Given the description of an element on the screen output the (x, y) to click on. 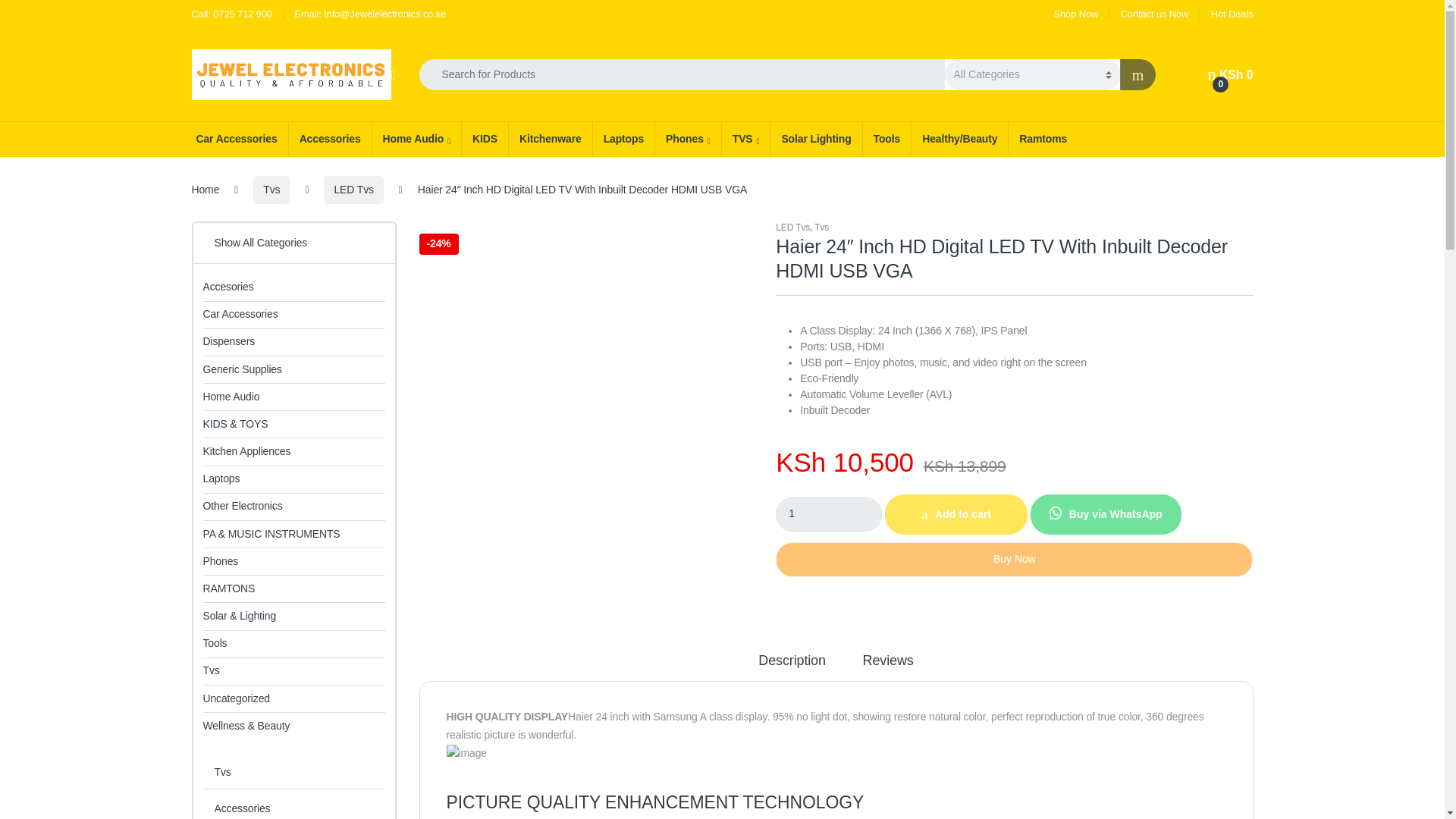
1 (829, 514)
KIDS (484, 139)
Call: 0725 712 900 (231, 13)
Contact us Now (1229, 74)
Hot Deals (1155, 13)
Call: 0725 712 900 (1232, 13)
Shop Now (231, 13)
Home Audio (1076, 13)
Kitchenware (416, 139)
Shop Now (550, 139)
Hot Deals (1076, 13)
Accessories (1232, 13)
Car Accessories (329, 139)
Contact us Now (235, 139)
